Given the description of an element on the screen output the (x, y) to click on. 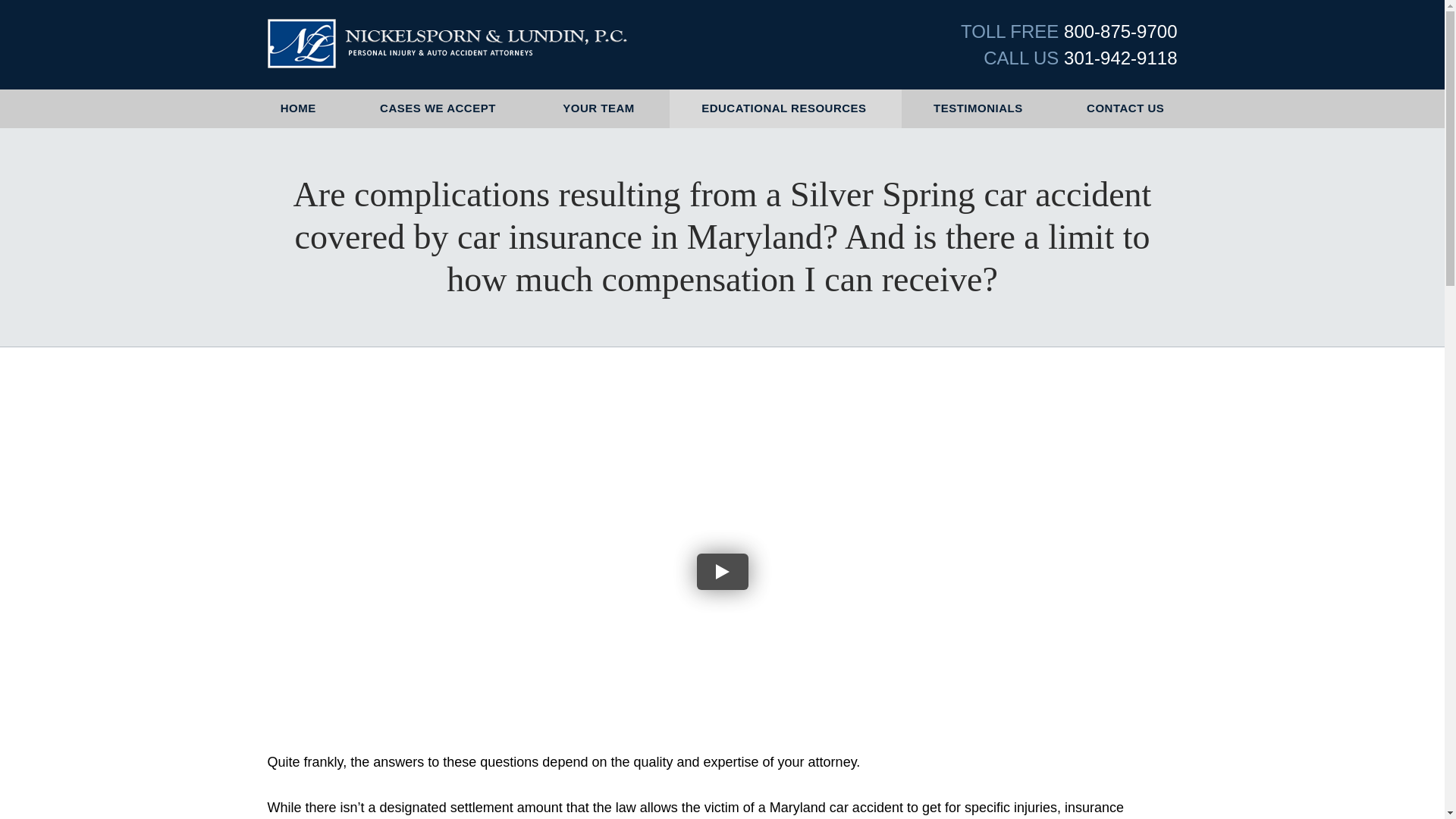
CONTACT US (1125, 108)
TESTIMONIALS (977, 108)
HOME (297, 108)
CASES WE ACCEPT (439, 108)
YOUR TEAM (600, 108)
800-875-9700 (1120, 31)
EDUCATIONAL RESOURCES (785, 108)
301-942-9118 (1120, 56)
